Given the description of an element on the screen output the (x, y) to click on. 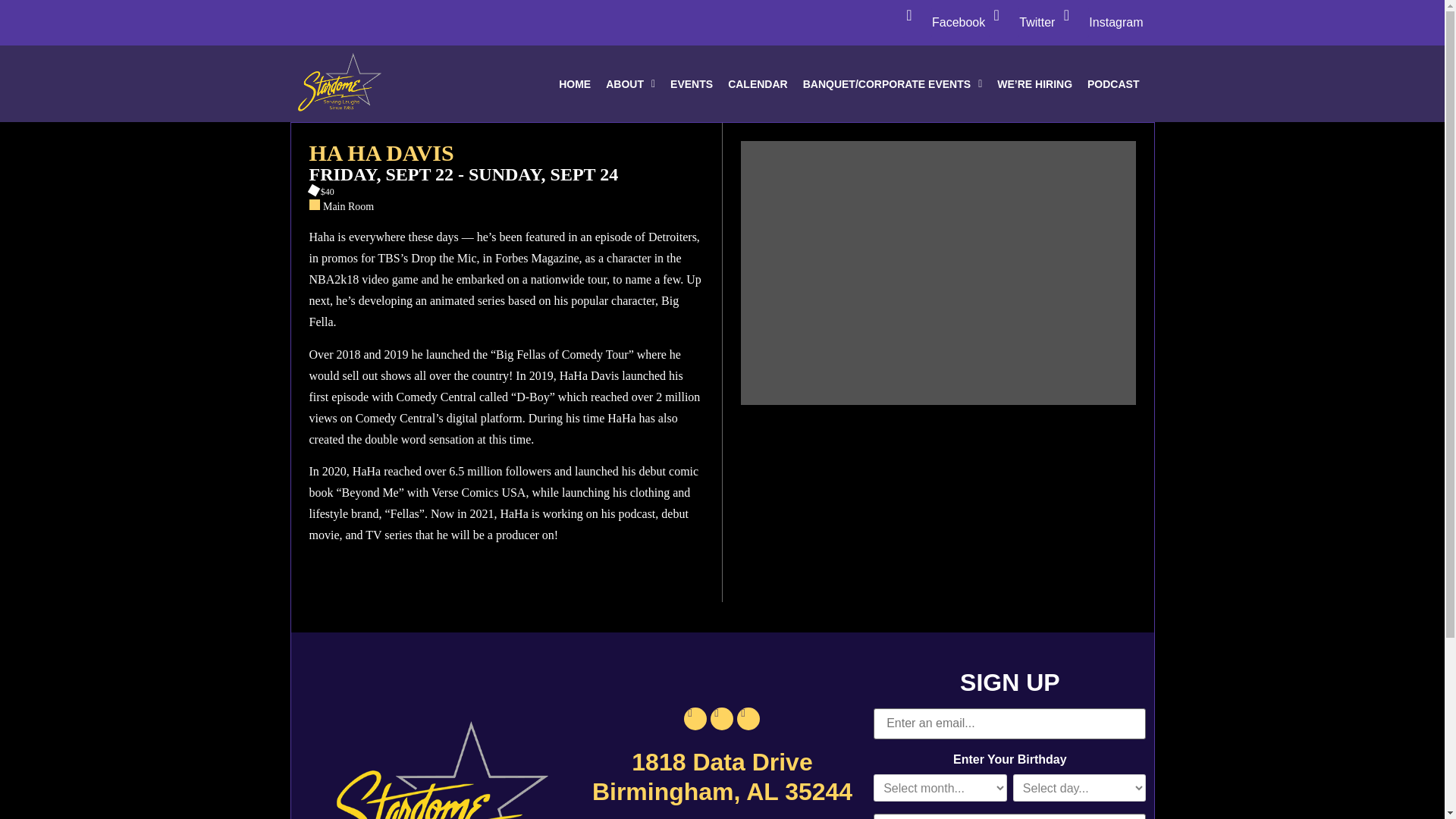
PODCAST (1113, 83)
ABOUT (630, 83)
Facebook (958, 21)
Twitter (1036, 21)
Instagram (1115, 21)
Main Room (348, 206)
EVENTS (691, 83)
HOME (574, 83)
Ha Ha Davis (505, 153)
CALENDAR (757, 83)
